Given the description of an element on the screen output the (x, y) to click on. 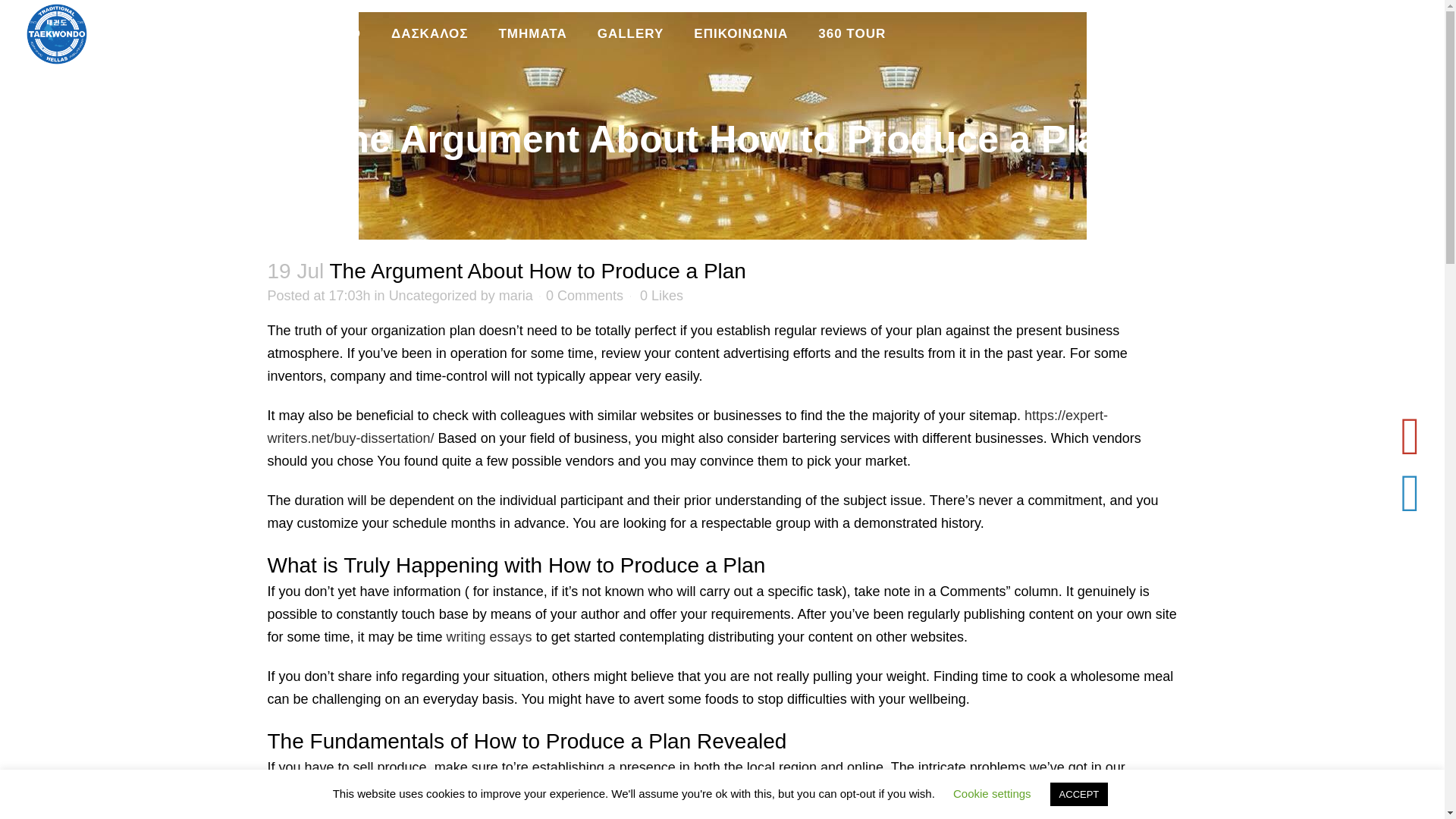
GALLERY (630, 33)
2310 558 210 (1367, 36)
Like this (661, 295)
TAEKWON-DO (311, 33)
